Given the description of an element on the screen output the (x, y) to click on. 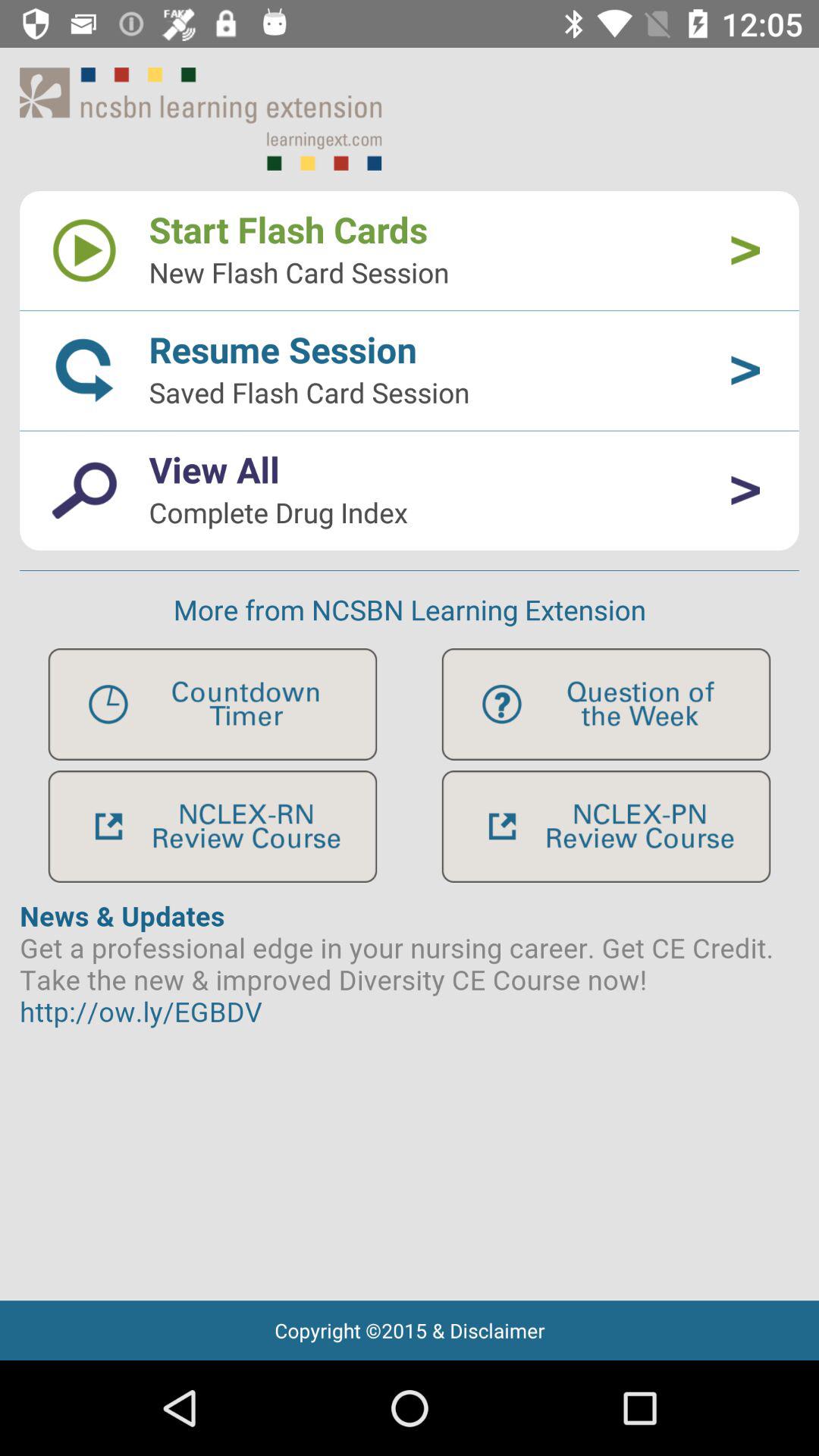
review option (212, 826)
